Given the description of an element on the screen output the (x, y) to click on. 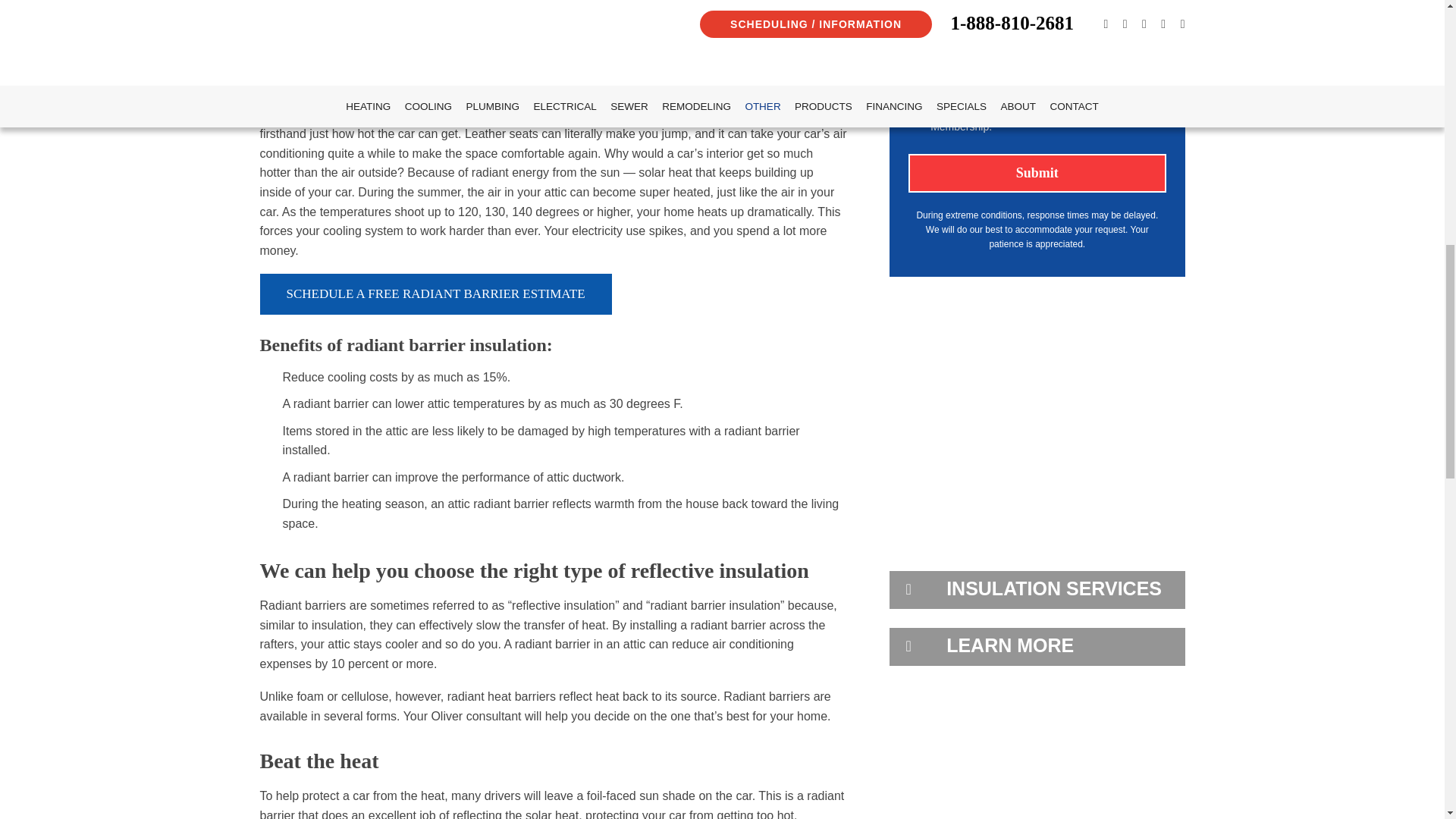
Submit (1037, 172)
